Given the description of an element on the screen output the (x, y) to click on. 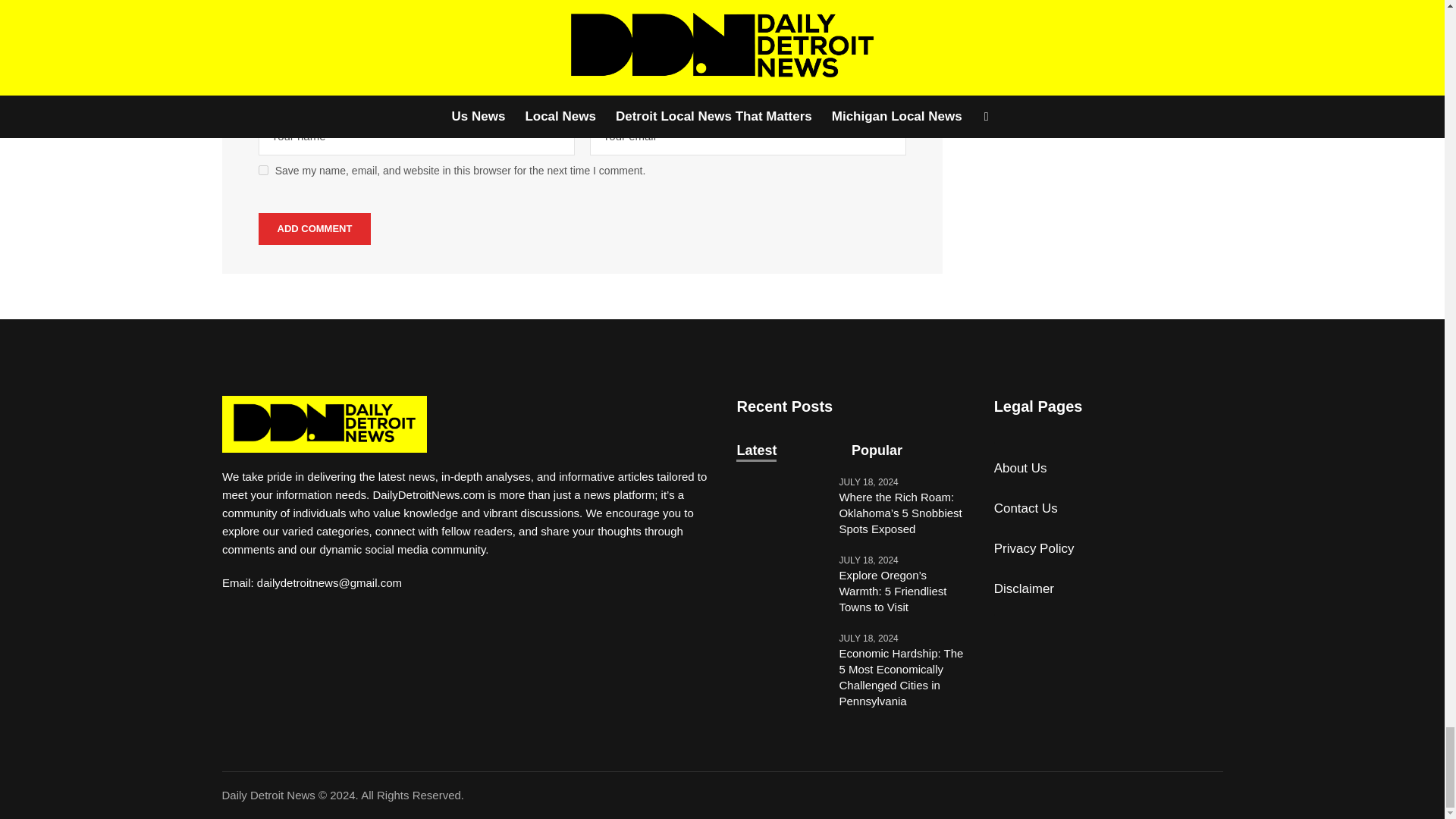
yes (263, 170)
Add Comment (315, 228)
